Given the description of an element on the screen output the (x, y) to click on. 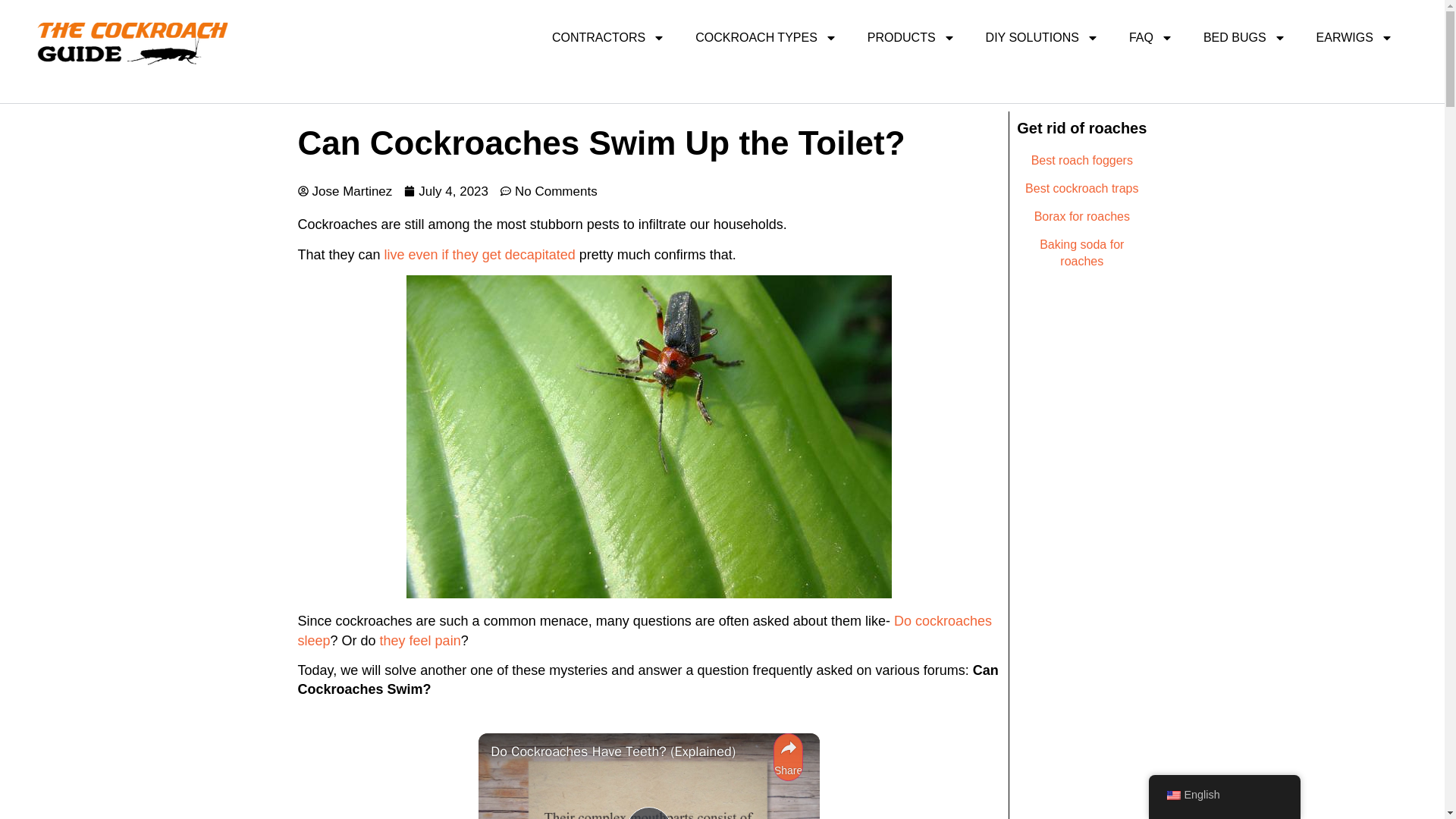
DIY SOLUTIONS (1042, 38)
FAQ (1150, 38)
English (1172, 795)
BED BUGS (1244, 38)
Play Video (648, 812)
EARWIGS (1354, 38)
CONTRACTORS (608, 38)
PRODUCTS (911, 38)
COCKROACH TYPES (765, 38)
